Given the description of an element on the screen output the (x, y) to click on. 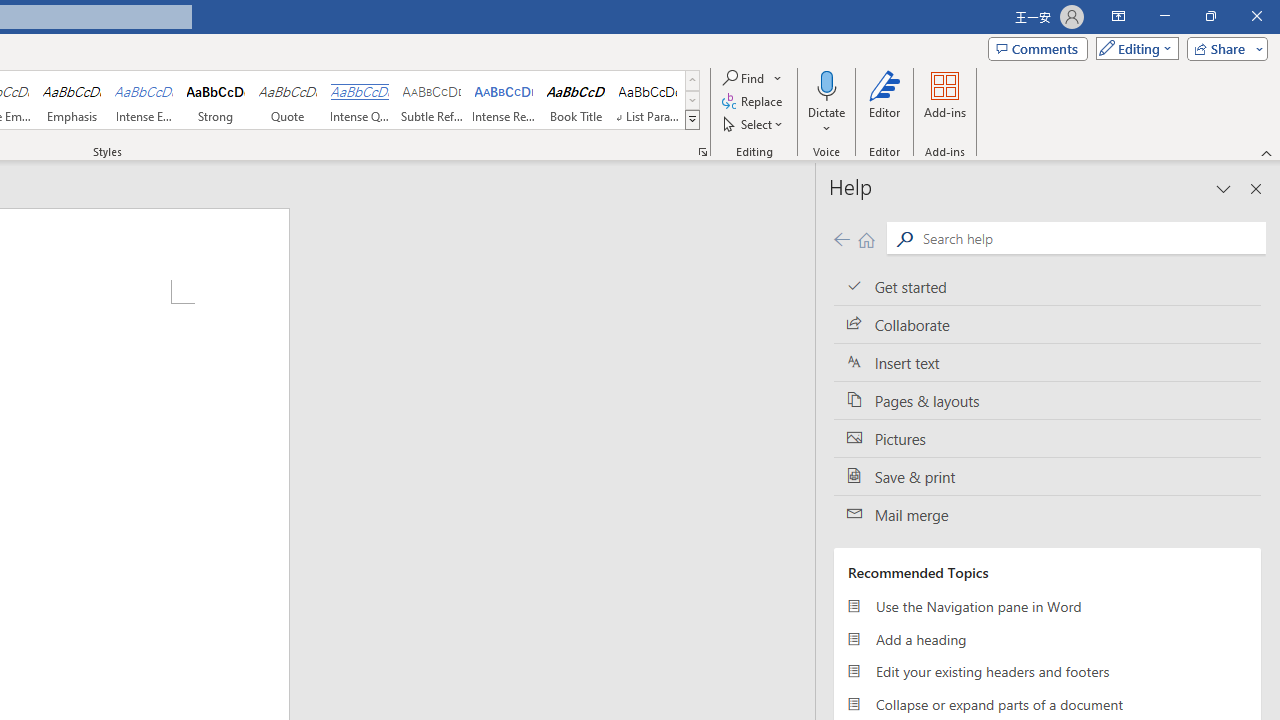
Pictures (1047, 438)
Strong (216, 100)
Insert text (1047, 363)
Add a heading (1047, 638)
